Given the description of an element on the screen output the (x, y) to click on. 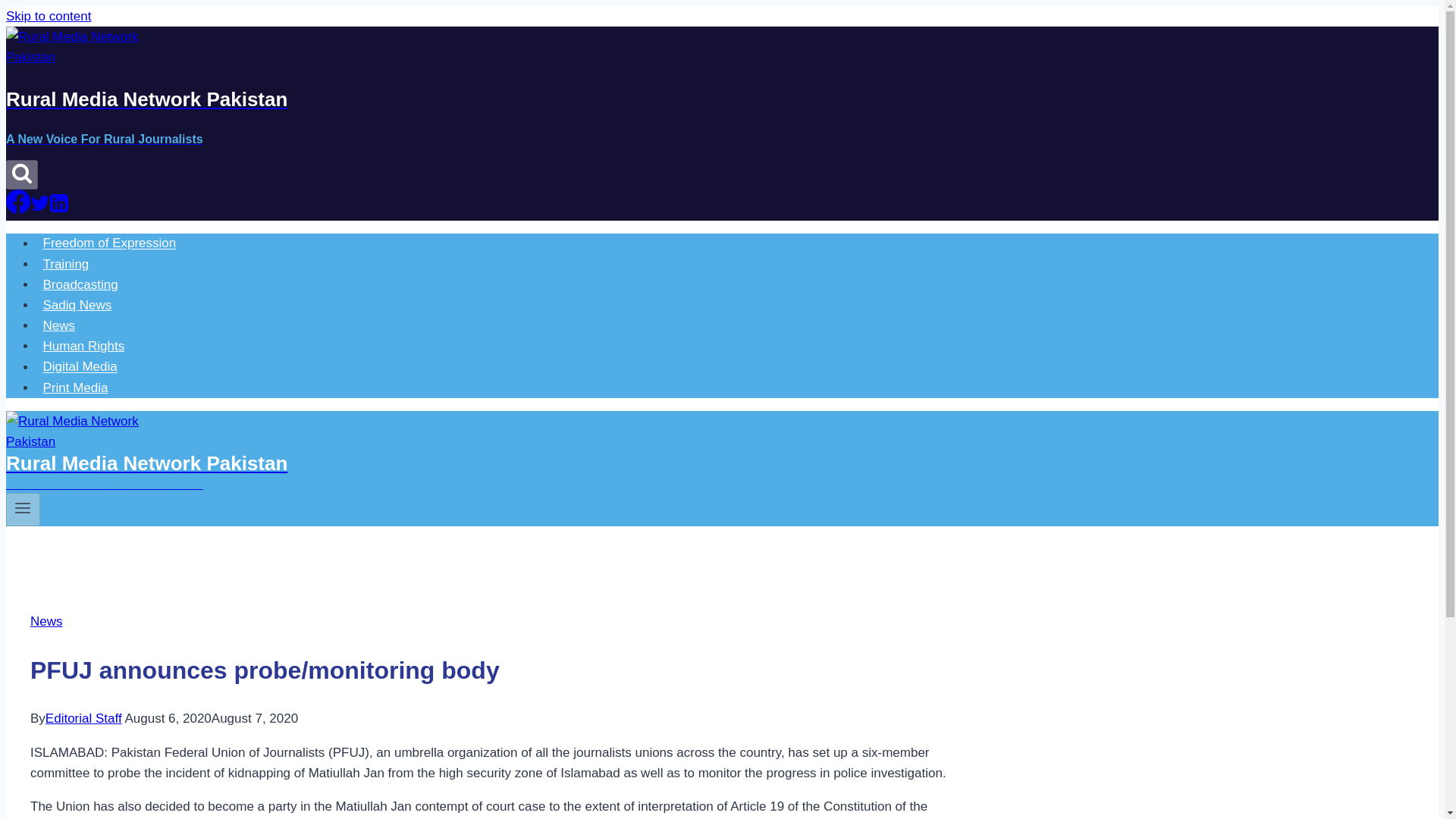
Twitter (39, 202)
News (58, 325)
Freedom of Expression (109, 242)
Editorial Staff (83, 718)
Search (21, 172)
Broadcasting (79, 284)
Search (21, 174)
Facebook (17, 201)
Skip to content (47, 16)
Toggle Menu (22, 507)
